Given the description of an element on the screen output the (x, y) to click on. 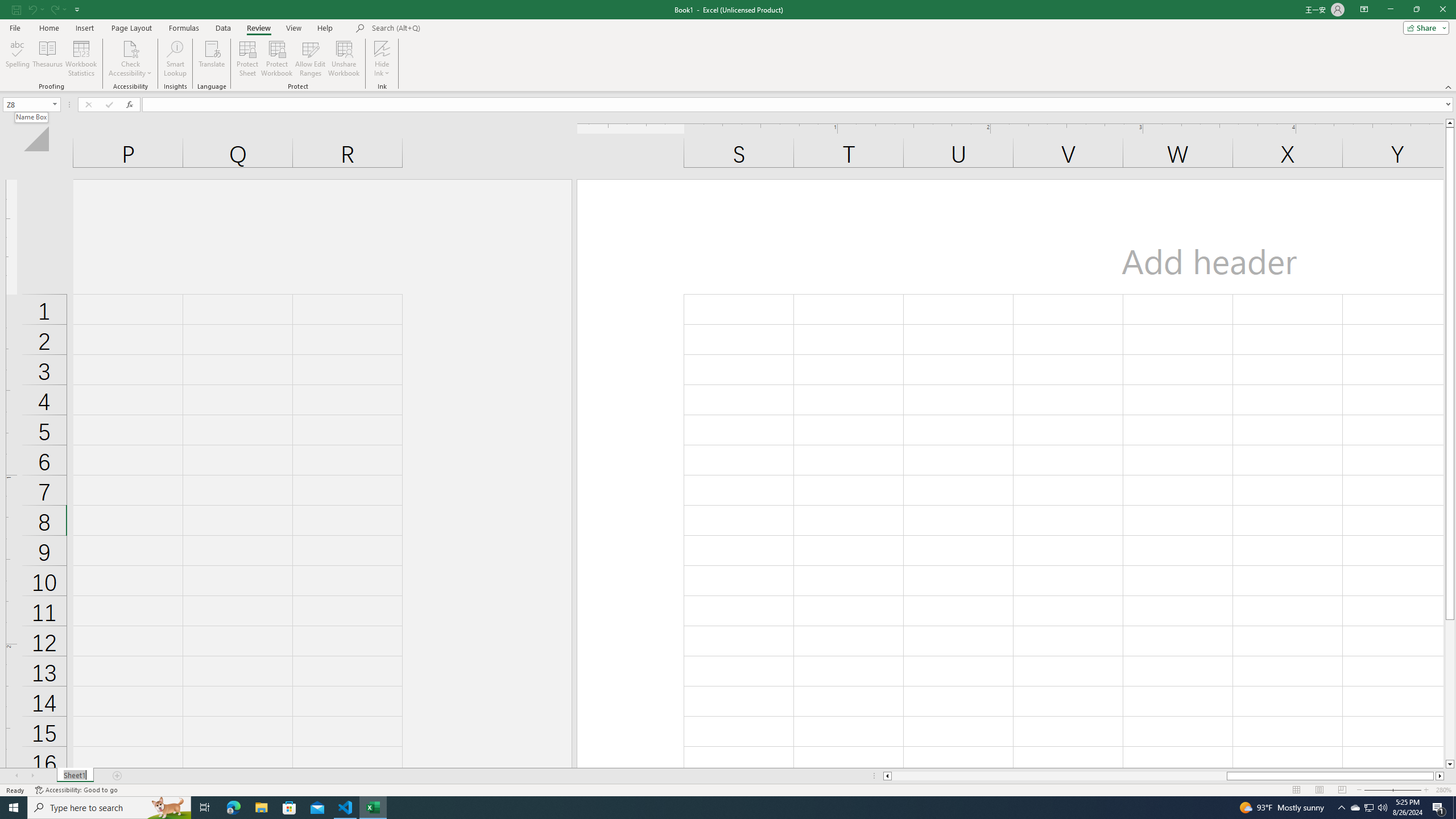
Protect Sheet... (247, 58)
Page down (1449, 689)
Allow Edit Ranges (310, 58)
Hide Ink (381, 58)
Check Accessibility (129, 58)
Translate (211, 58)
Unshare Workbook (344, 58)
